Given the description of an element on the screen output the (x, y) to click on. 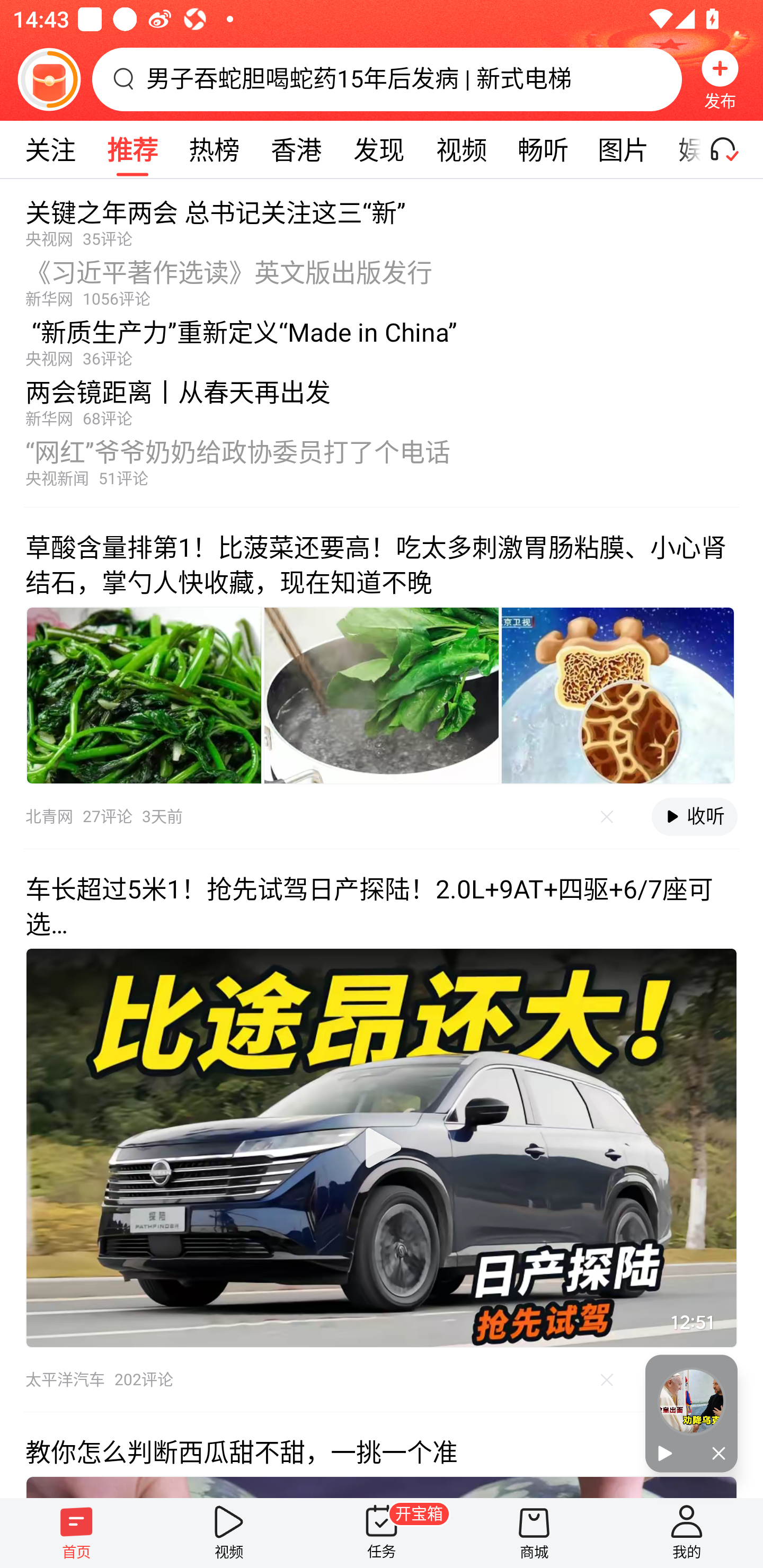
阅读赚金币 (48, 79)
男子吞蛇胆喝蛇药15年后发病 | 新式电梯 搜索框，男子吞蛇胆喝蛇药15年后发病 | 新式电梯 (387, 79)
发布 发布，按钮 (720, 78)
关注 (50, 149)
推荐 (132, 149)
热榜 (213, 149)
香港 (295, 149)
发现 (378, 149)
视频 (461, 149)
畅听 (542, 149)
图片 (623, 149)
听一听开关 (732, 149)
两会镜距离丨从春天再出发新华网68评论 文章 两会镜距离丨从春天再出发 新华网68评论 (381, 398)
三张内容图片 内容图片 内容图片 内容图片 (381, 695)
内容图片 (381, 695)
内容图片 (617, 695)
收听 (694, 816)
不感兴趣 (607, 816)
播放视频 视频播放器，双击屏幕打开播放控制 (381, 1147)
播放视频 (381, 1147)
当前进度 0% 播放 关闭 (691, 1413)
不感兴趣 (607, 1379)
教你怎么判断西瓜甜不甜，一挑一个准 (381, 1454)
播放 (668, 1454)
关闭 (714, 1454)
首页 (76, 1532)
视频 (228, 1532)
任务 开宝箱 (381, 1532)
商城 (533, 1532)
我的 (686, 1532)
